Given the description of an element on the screen output the (x, y) to click on. 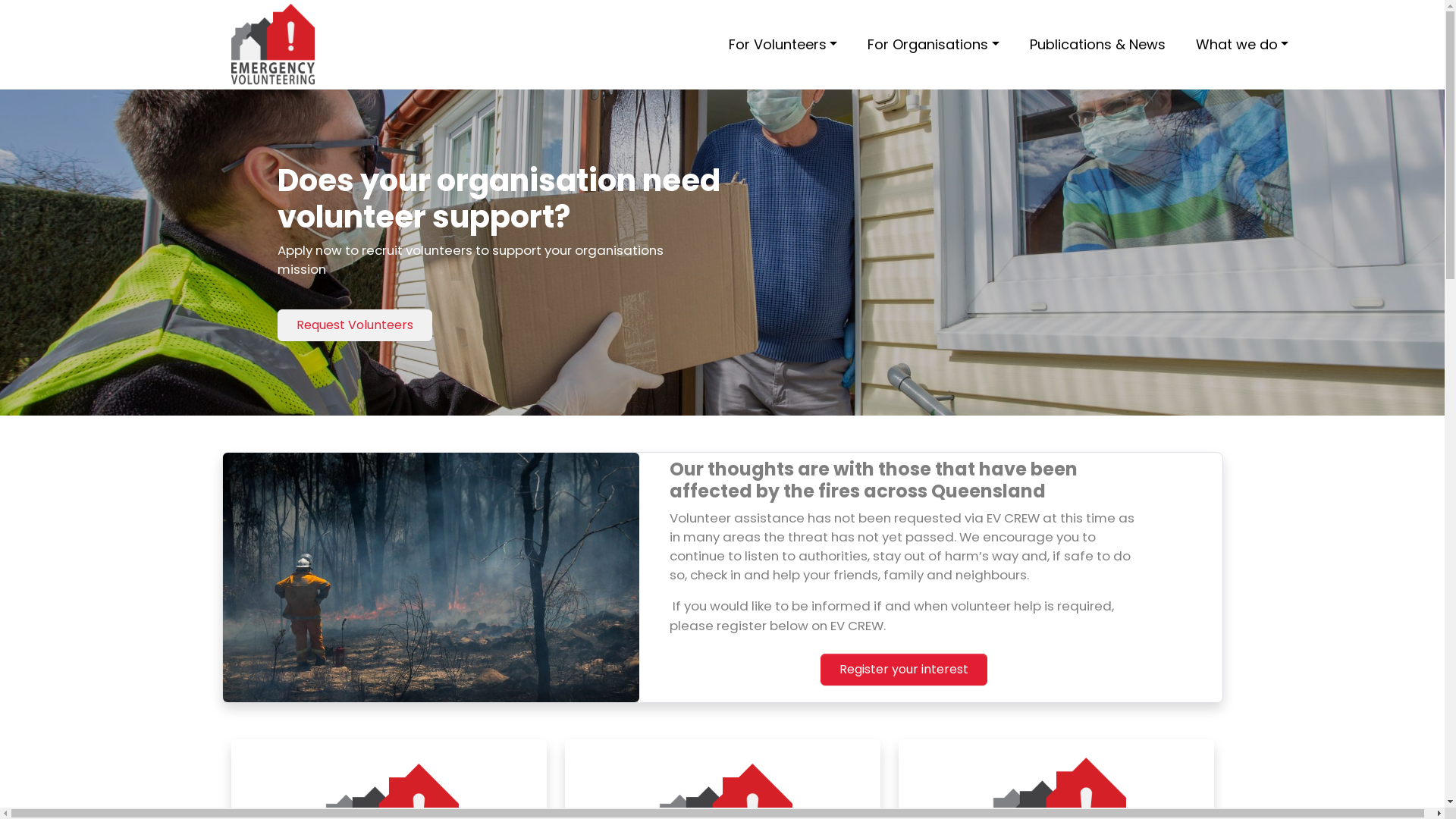
For Organisations Element type: text (933, 44)
Publications & News Element type: text (1097, 44)
Request Volunteers Element type: text (354, 325)
Register your interest Element type: text (903, 669)
What we do Element type: text (1242, 44)
For Volunteers Element type: text (782, 44)
